Given the description of an element on the screen output the (x, y) to click on. 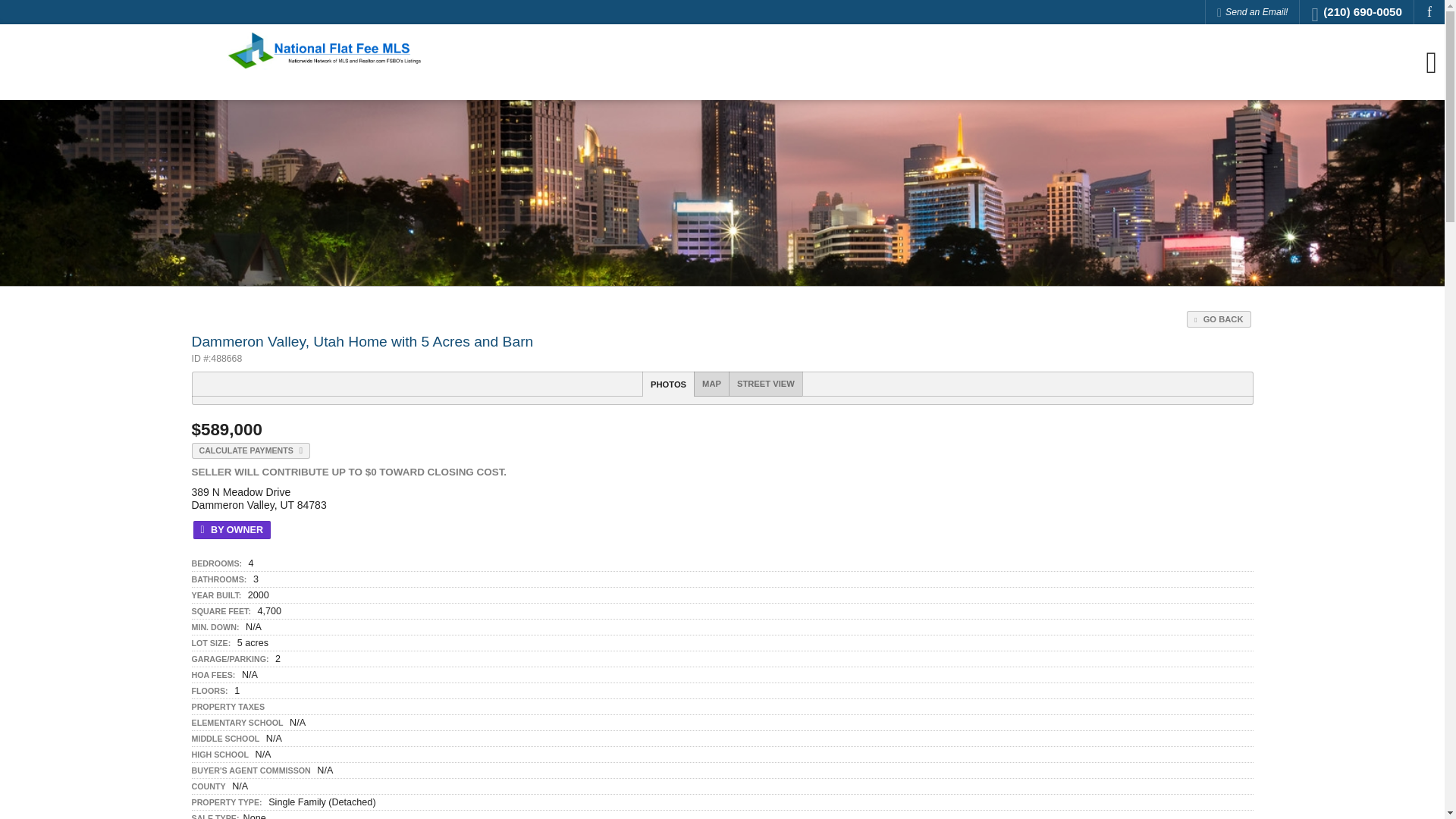
Send an Email! (1252, 12)
CALCULATE PAYMENTS (250, 451)
PHOTOS (668, 383)
Calculate Payments (250, 451)
MAP (711, 383)
GO BACK (1218, 319)
STREET VIEW (765, 383)
